Given the description of an element on the screen output the (x, y) to click on. 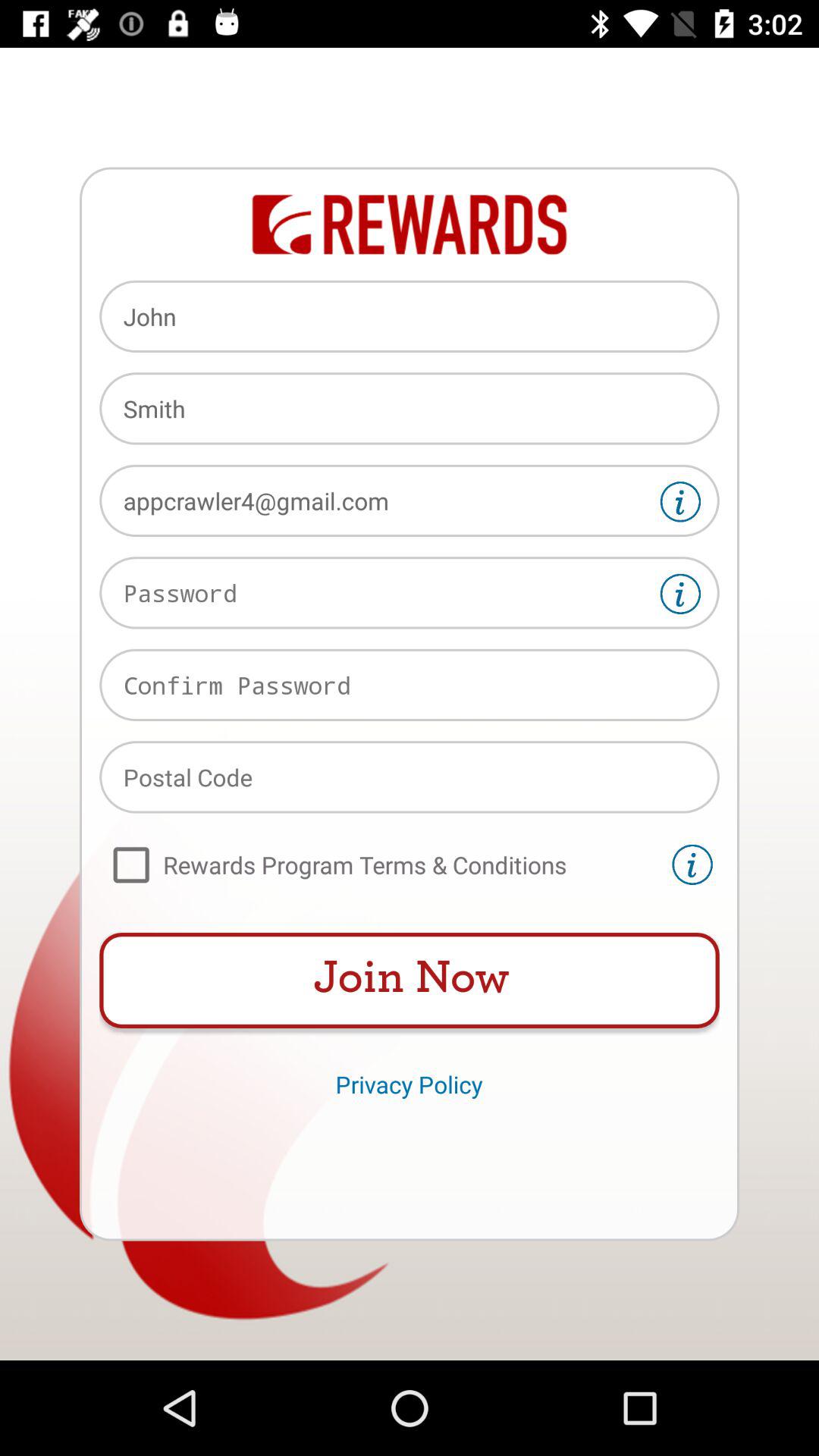
more information about rewards program (692, 864)
